Given the description of an element on the screen output the (x, y) to click on. 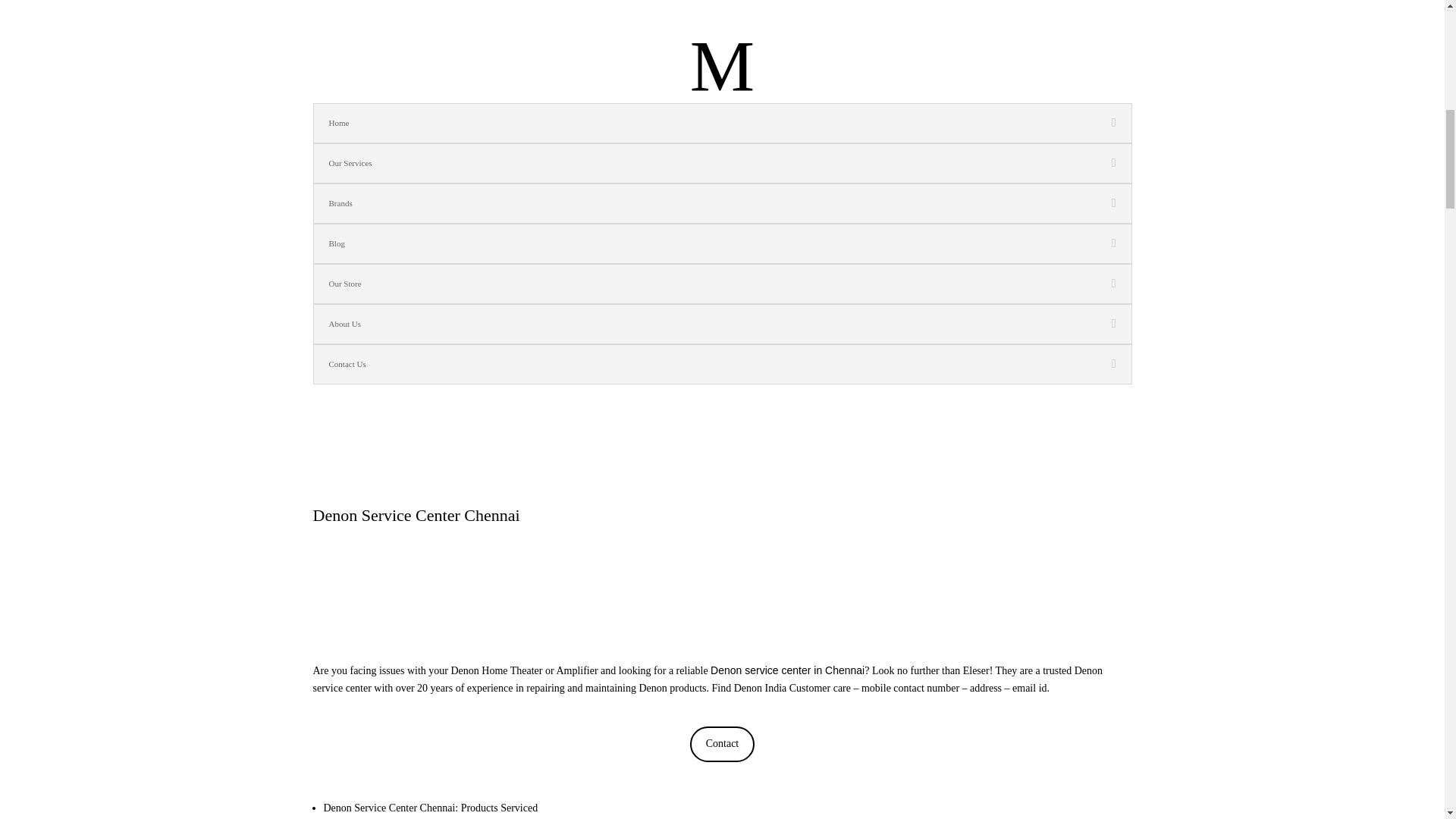
Denon Service Center Chennai: Products Serviced (430, 808)
Contact (722, 743)
